Given the description of an element on the screen output the (x, y) to click on. 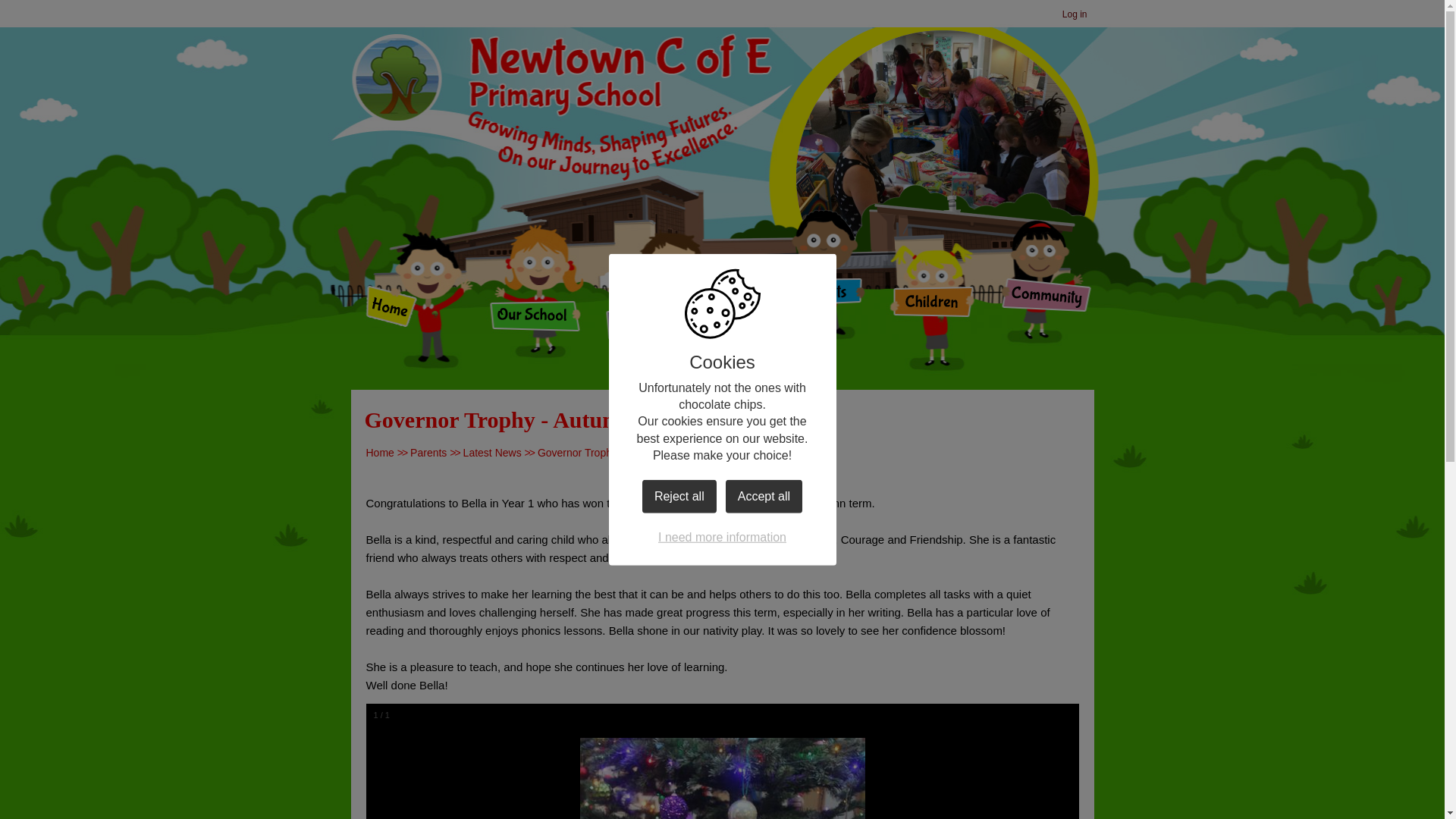
Parents (428, 452)
Our School (532, 316)
Home Page (561, 76)
Home (390, 306)
Latest News (492, 452)
Log in (1074, 14)
Home (379, 452)
Home Page (561, 76)
